Given the description of an element on the screen output the (x, y) to click on. 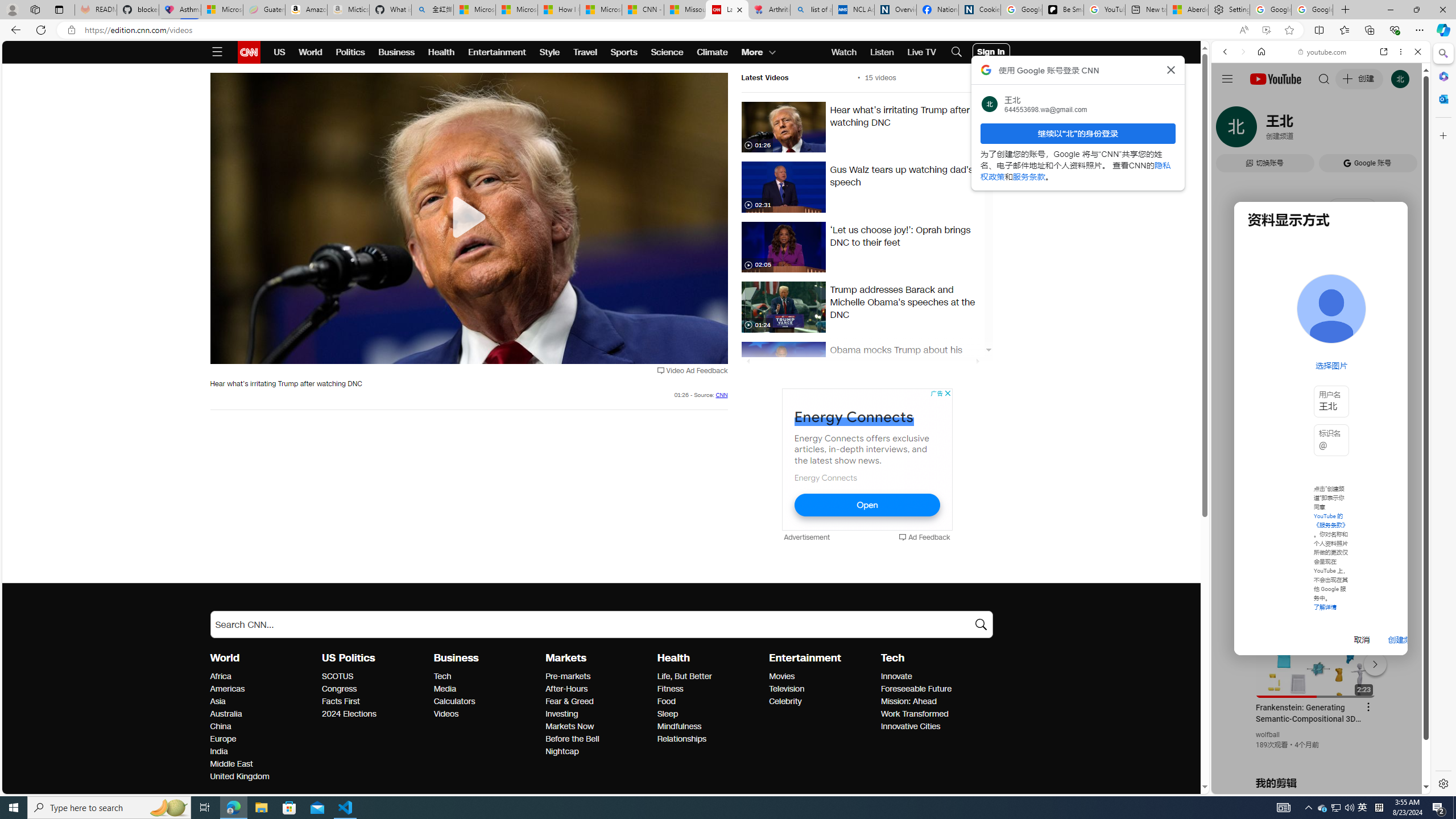
YouTube (1315, 655)
US Politics SCOTUS (337, 676)
Energy Connects (825, 477)
World Europe (222, 738)
Business Calculators (454, 701)
you (1315, 755)
Music (1320, 309)
